Given the description of an element on the screen output the (x, y) to click on. 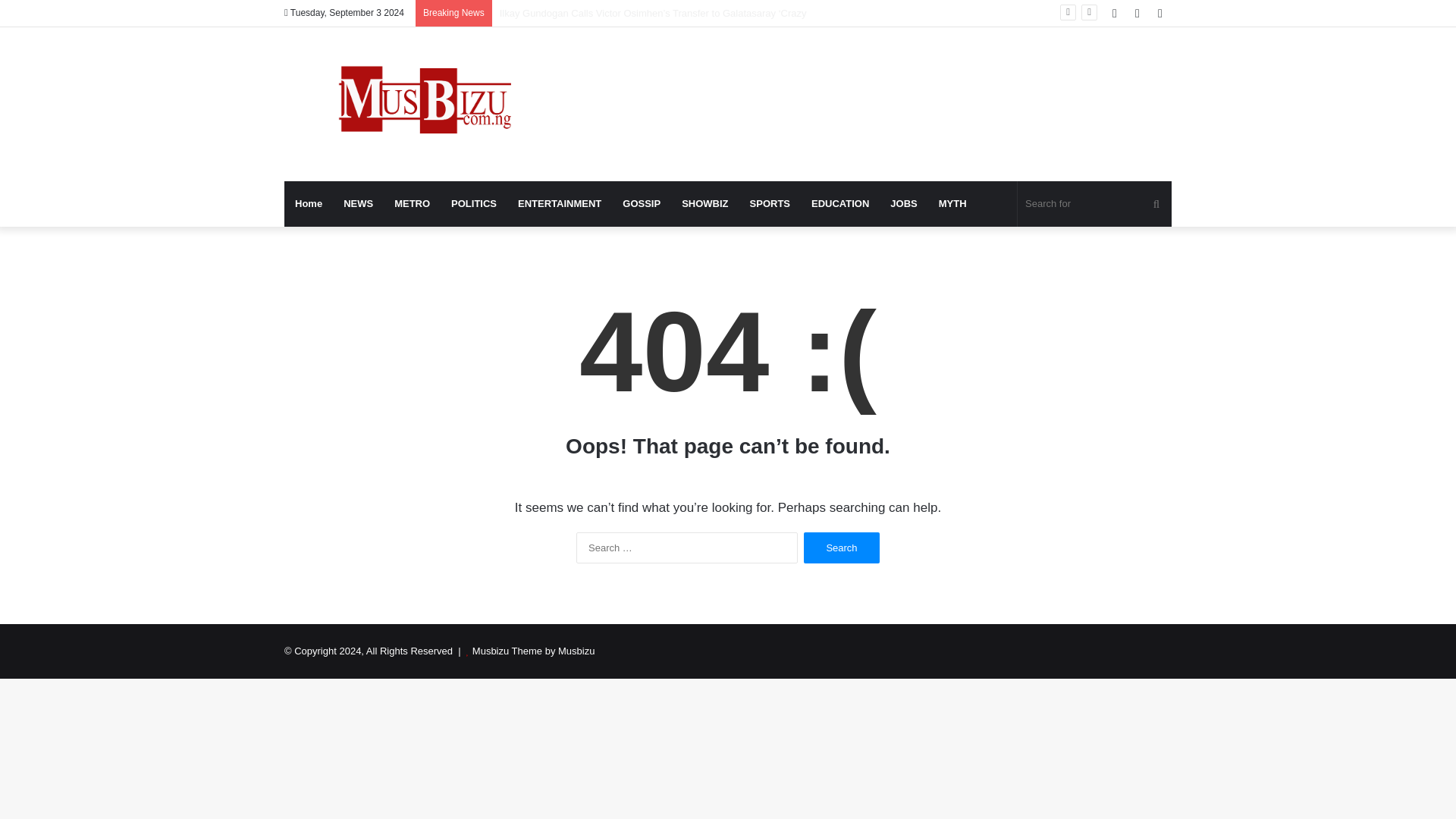
JOBS (903, 203)
SPORTS (769, 203)
Search (841, 547)
SHOWBIZ (704, 203)
Musbizu Theme by Musbizu (533, 650)
EDUCATION (839, 203)
Search for (1094, 203)
METRO (412, 203)
POLITICS (473, 203)
GOSSIP (641, 203)
